Given the description of an element on the screen output the (x, y) to click on. 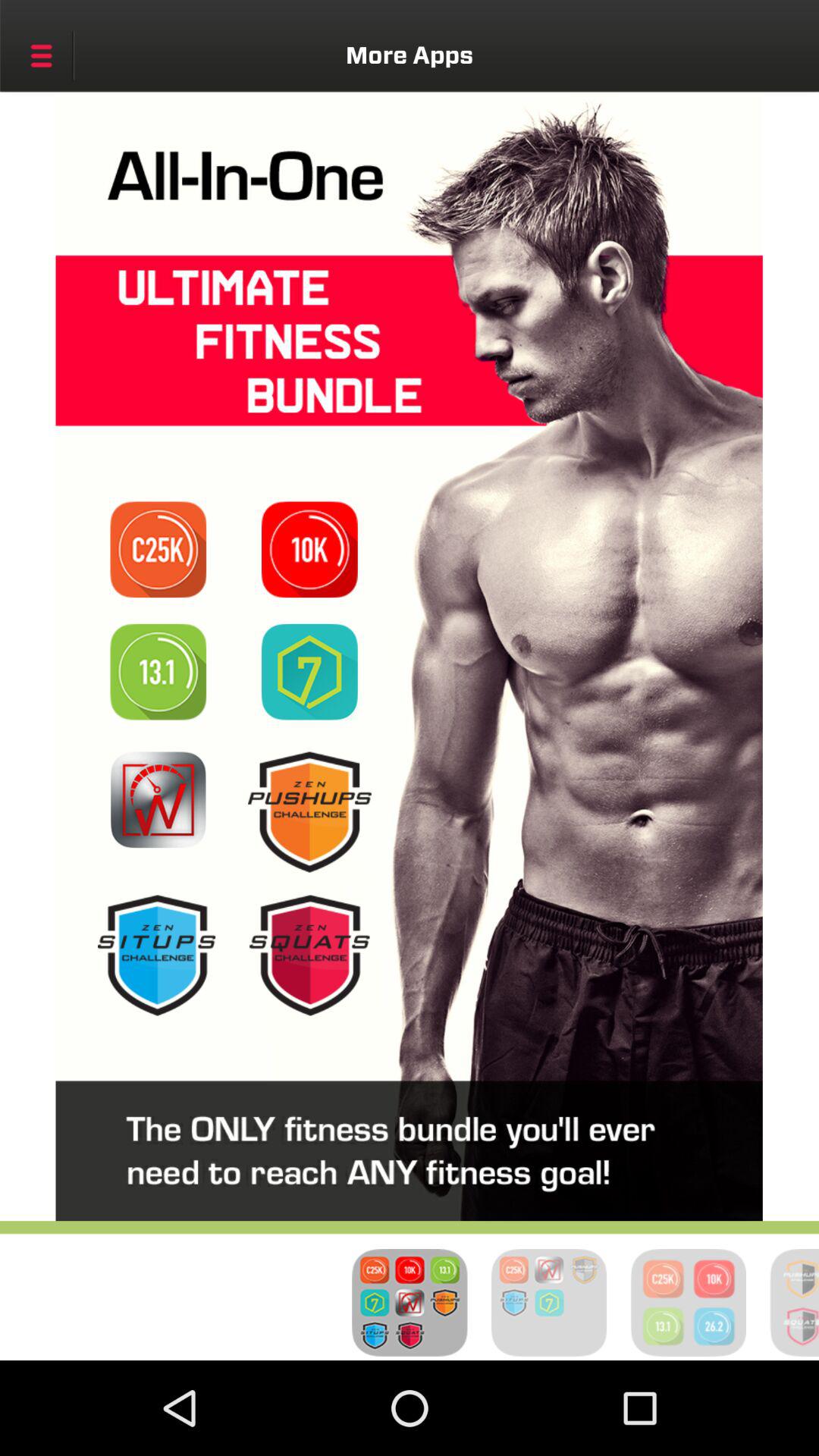
any widget with fitness information (309, 955)
